Given the description of an element on the screen output the (x, y) to click on. 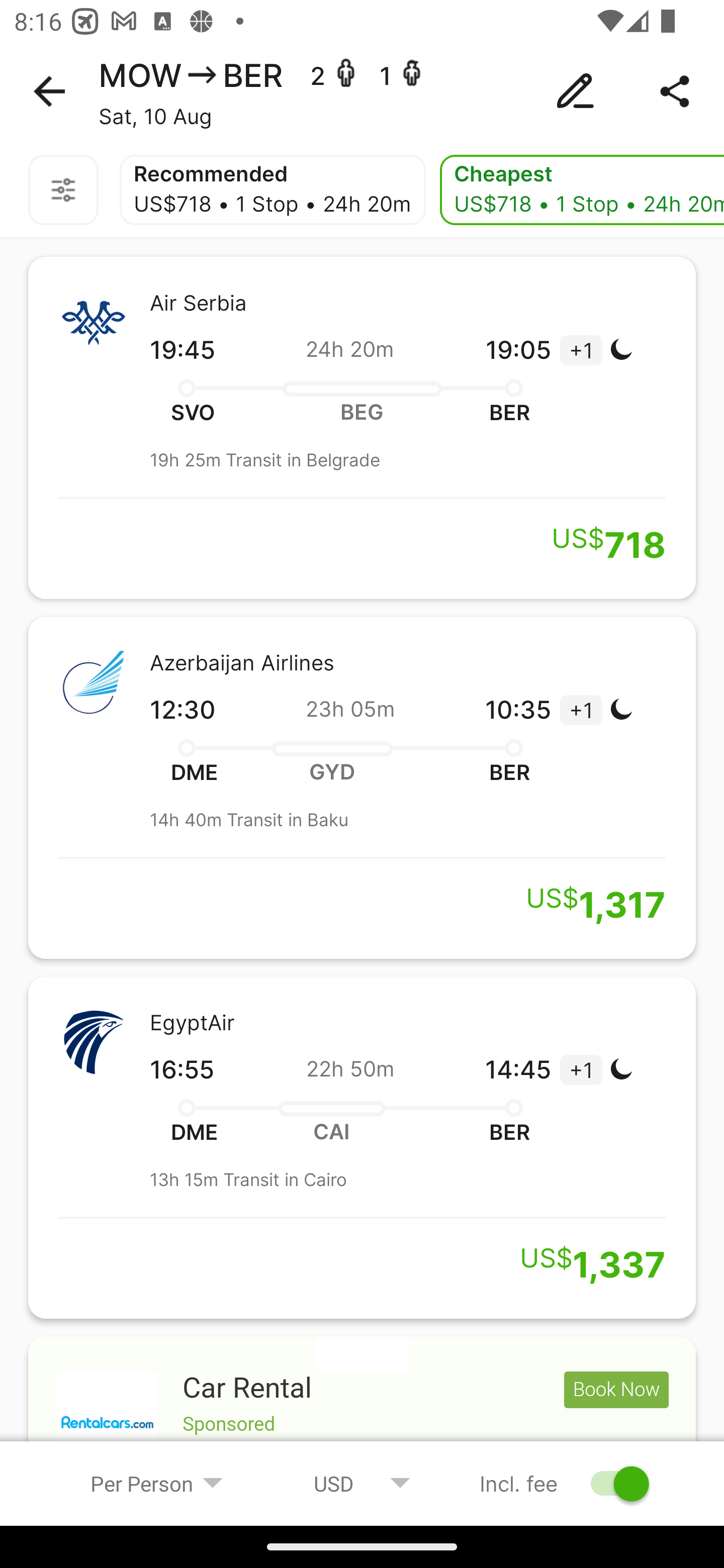
MOW BER   2 -   1 - Sat, 10 Aug (361, 91)
Recommended  US$718 • 1 Stop • 24h 20m (272, 190)
Cheapest US$718 • 1 Stop • 24h 20m (582, 190)
Per Person (156, 1482)
USD (361, 1482)
